Given the description of an element on the screen output the (x, y) to click on. 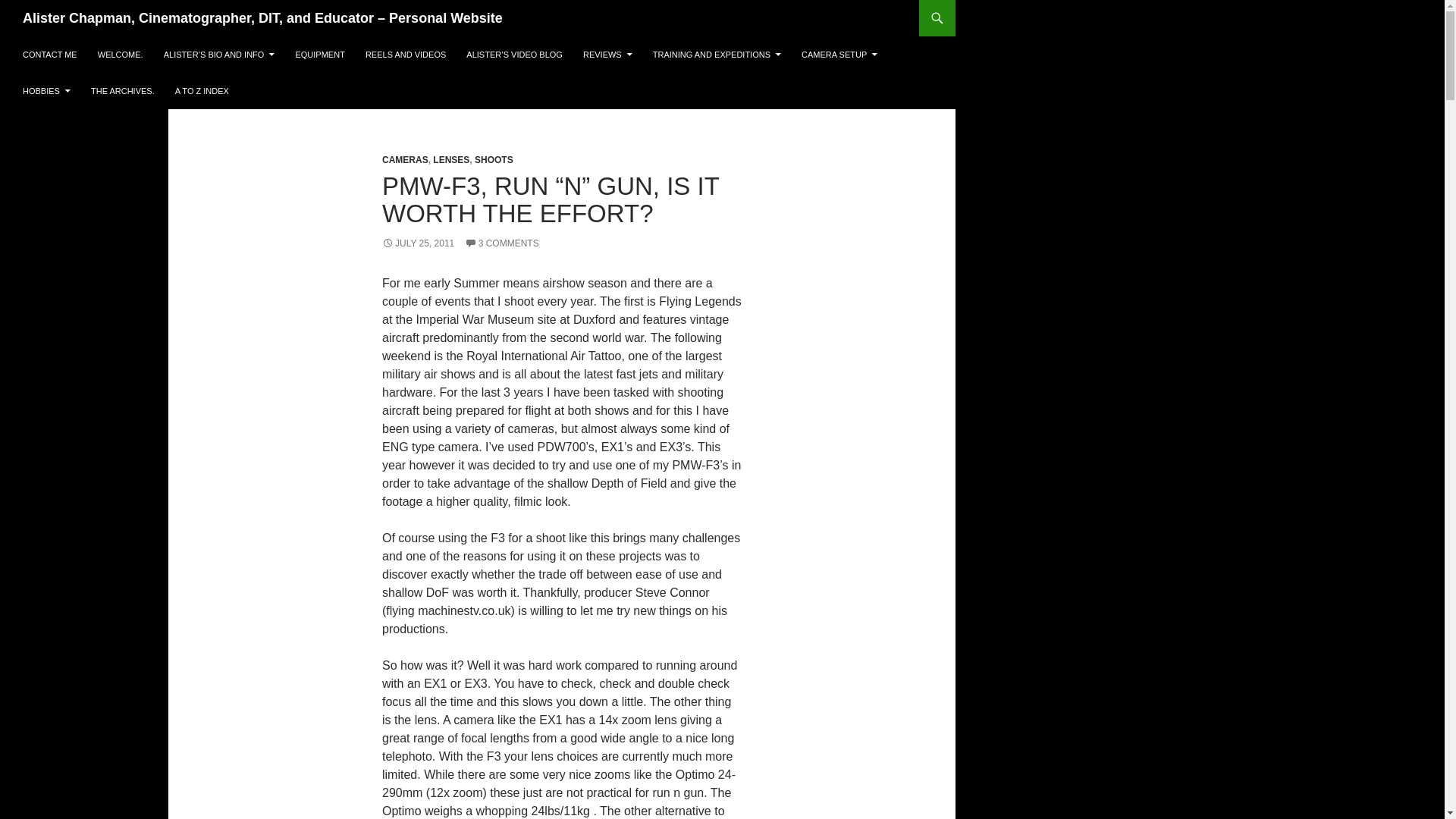
CONTACT ME (49, 54)
WELCOME. (120, 54)
REELS AND VIDEOS (405, 54)
EQUIPMENT (319, 54)
REVIEWS (607, 54)
